Given the description of an element on the screen output the (x, y) to click on. 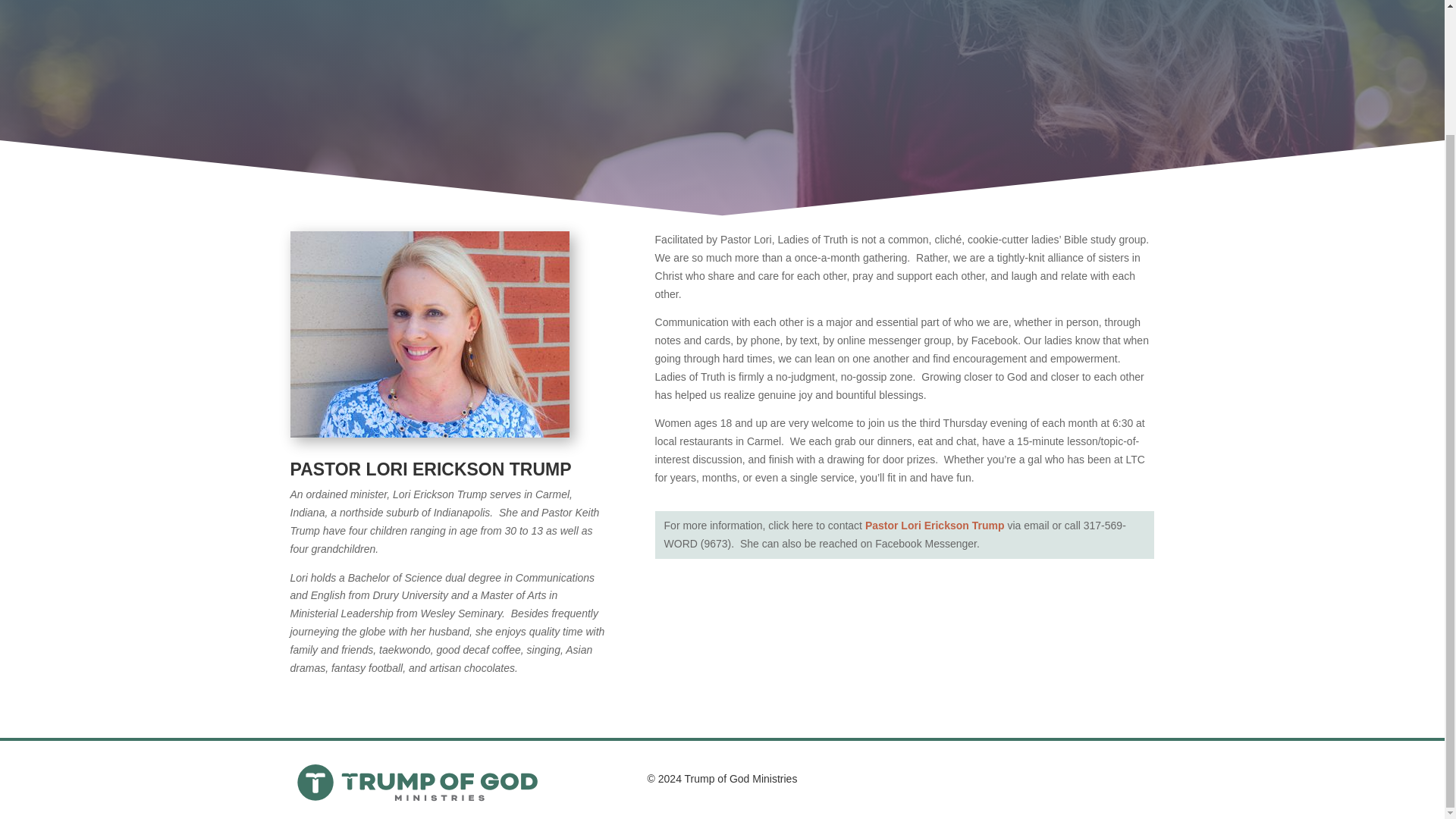
Lori Trump (429, 333)
Pastor Lori Erickson Trump (934, 525)
